Given the description of an element on the screen output the (x, y) to click on. 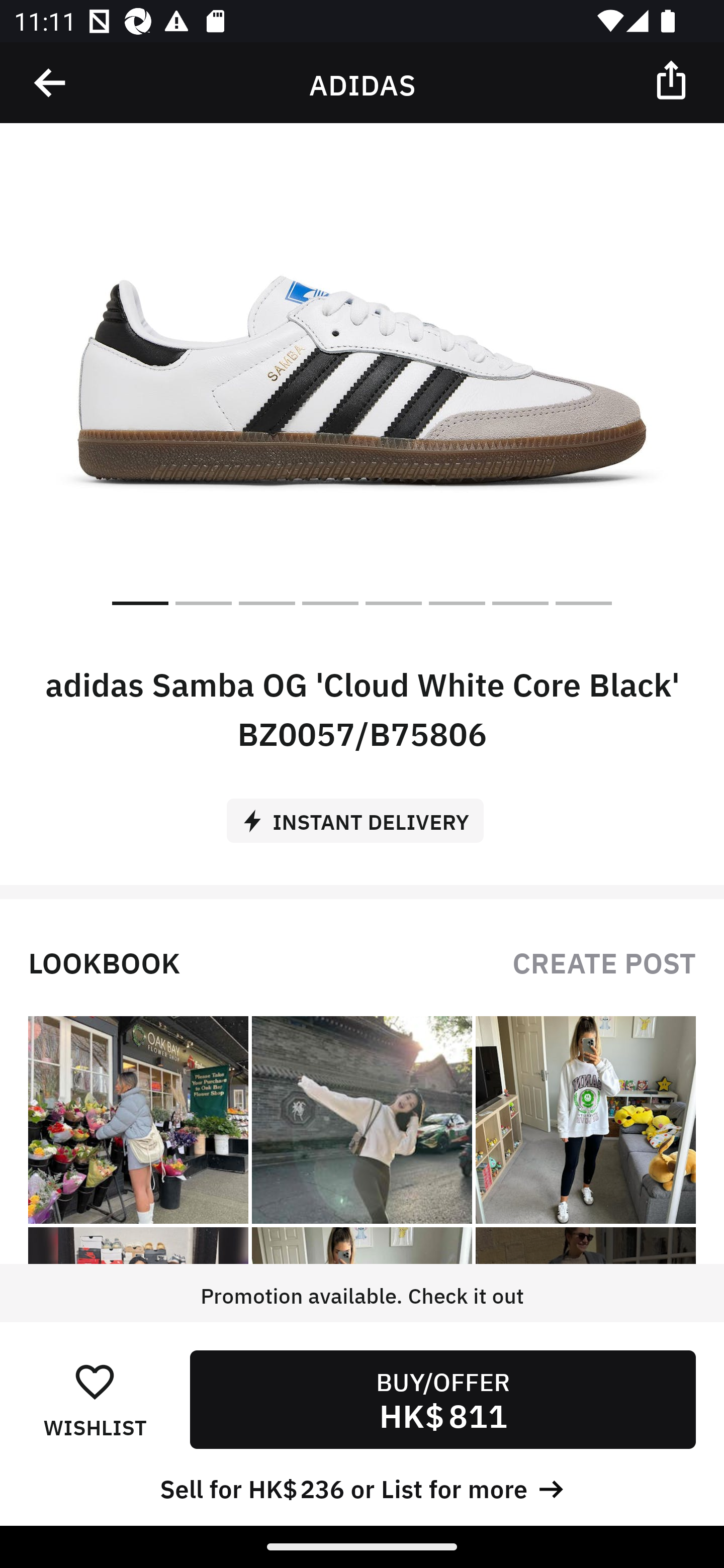
 (50, 83)
 (672, 79)
 INSTANT DELIVERY (362, 813)
CREATE POST (603, 960)
BUY/OFFER HK$ 811 (442, 1399)
󰋕 (94, 1380)
Sell for HK$ 236 or List for more (361, 1486)
